Given the description of an element on the screen output the (x, y) to click on. 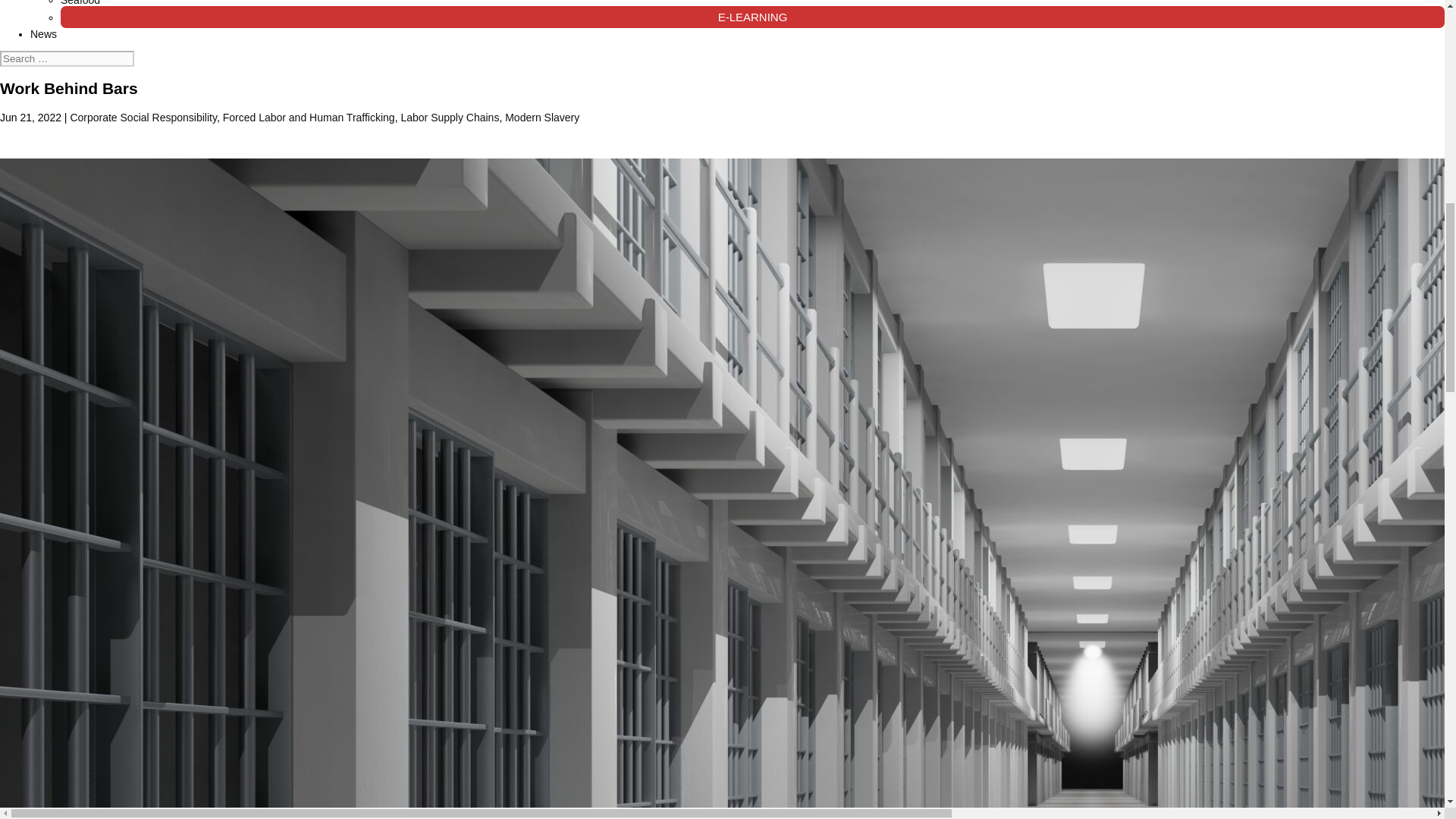
Search for: (66, 58)
